Given the description of an element on the screen output the (x, y) to click on. 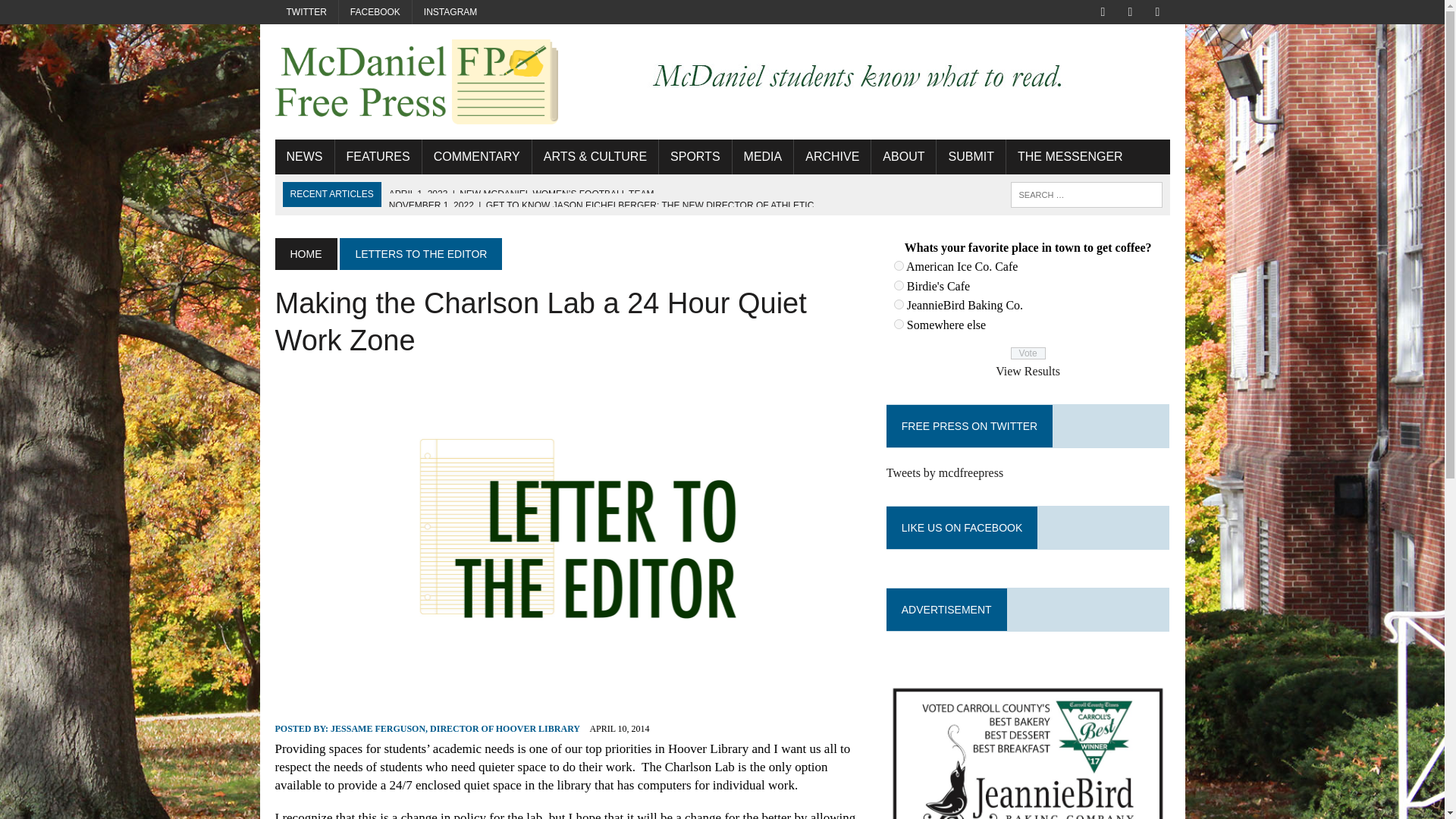
   Vote    (1027, 353)
FACEBOOK (375, 12)
535 (898, 304)
533 (898, 266)
INSTAGRAM (449, 12)
534 (898, 285)
View Results Of This Poll (1027, 370)
536 (898, 324)
TWITTER (306, 12)
The McDaniel Free Press (416, 81)
